Given the description of an element on the screen output the (x, y) to click on. 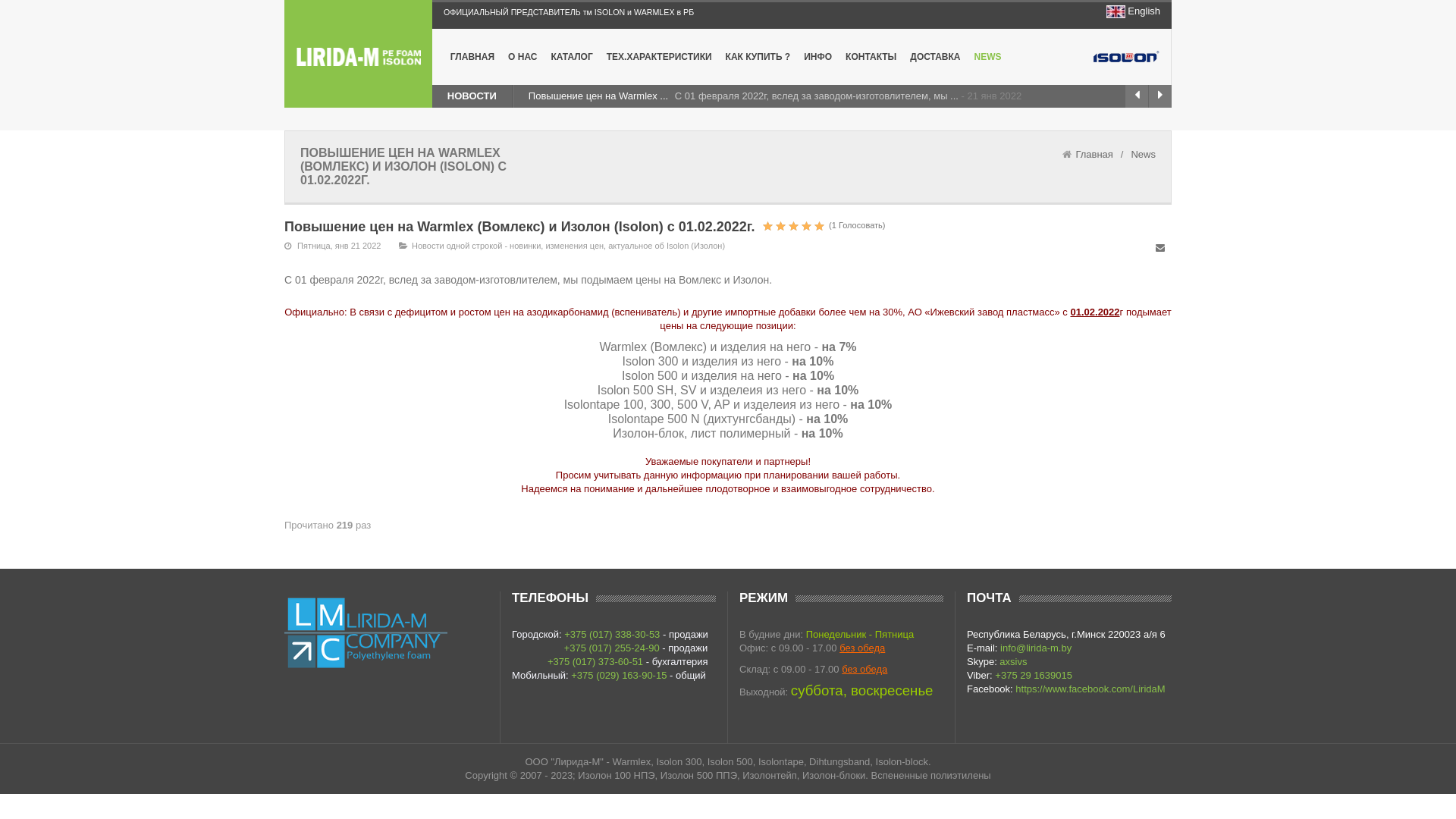
4 Element type: text (786, 225)
axsivs Element type: text (1012, 661)
5 Element type: text (793, 225)
News Element type: text (1142, 154)
1 Element type: text (767, 225)
English Element type: text (1143, 10)
NEWS Element type: text (987, 56)
+375 29 1639015 Element type: text (1033, 674)
3 Element type: text (780, 225)
+375 (029) 163-90-15 Element type: text (618, 674)
2 Element type: text (774, 225)
info@lirida-m.by Element type: text (1035, 647)
+375 (017) 255-24-90 Element type: text (611, 647)
+375 (017) 373-60-51 Element type: text (595, 661)
+375 (017) 338-30-53 Element type: text (611, 634)
https://www.facebook.com/LiridaM Element type: text (1089, 688)
